Given the description of an element on the screen output the (x, y) to click on. 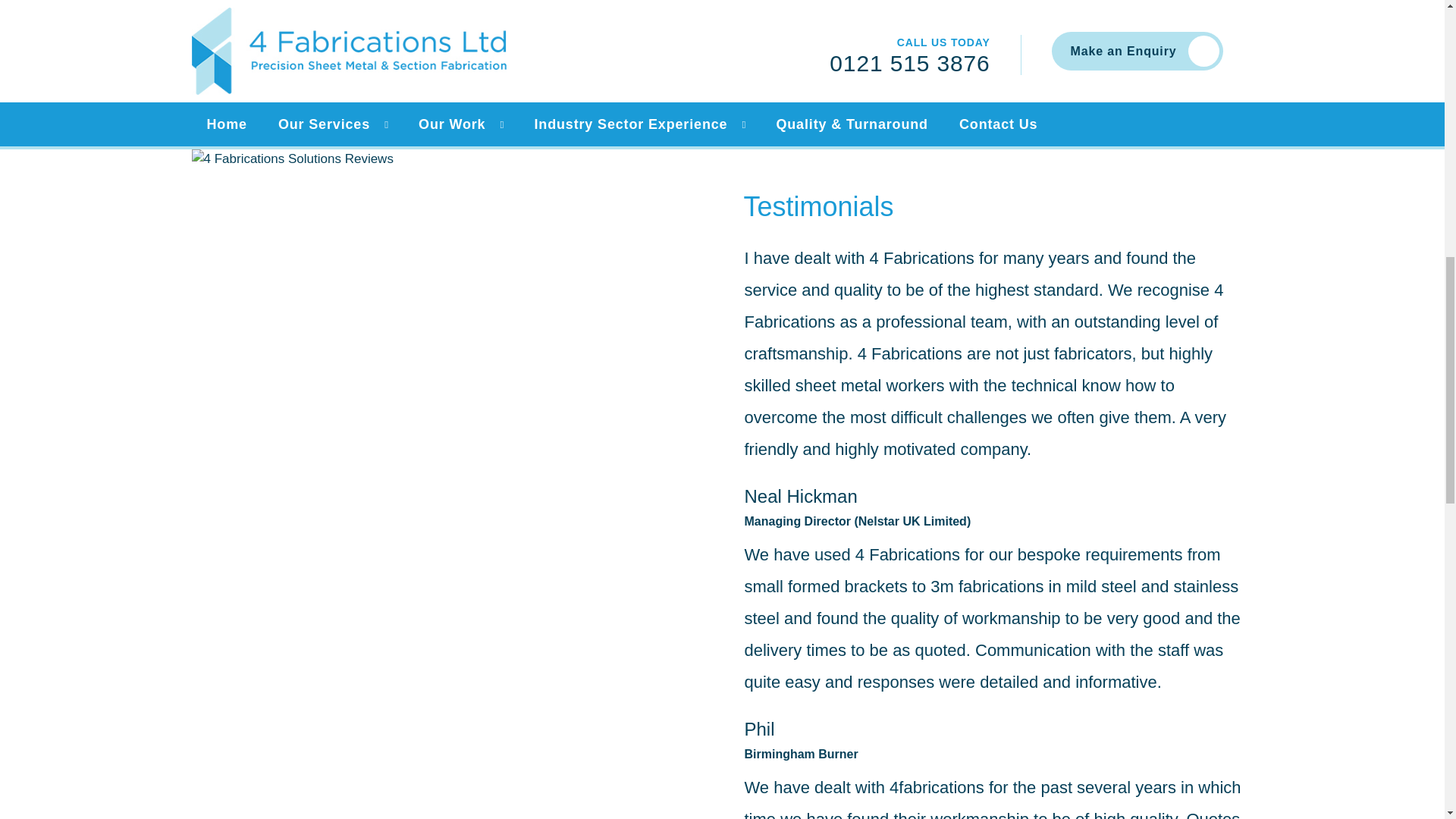
Birmingham (345, 50)
